Given the description of an element on the screen output the (x, y) to click on. 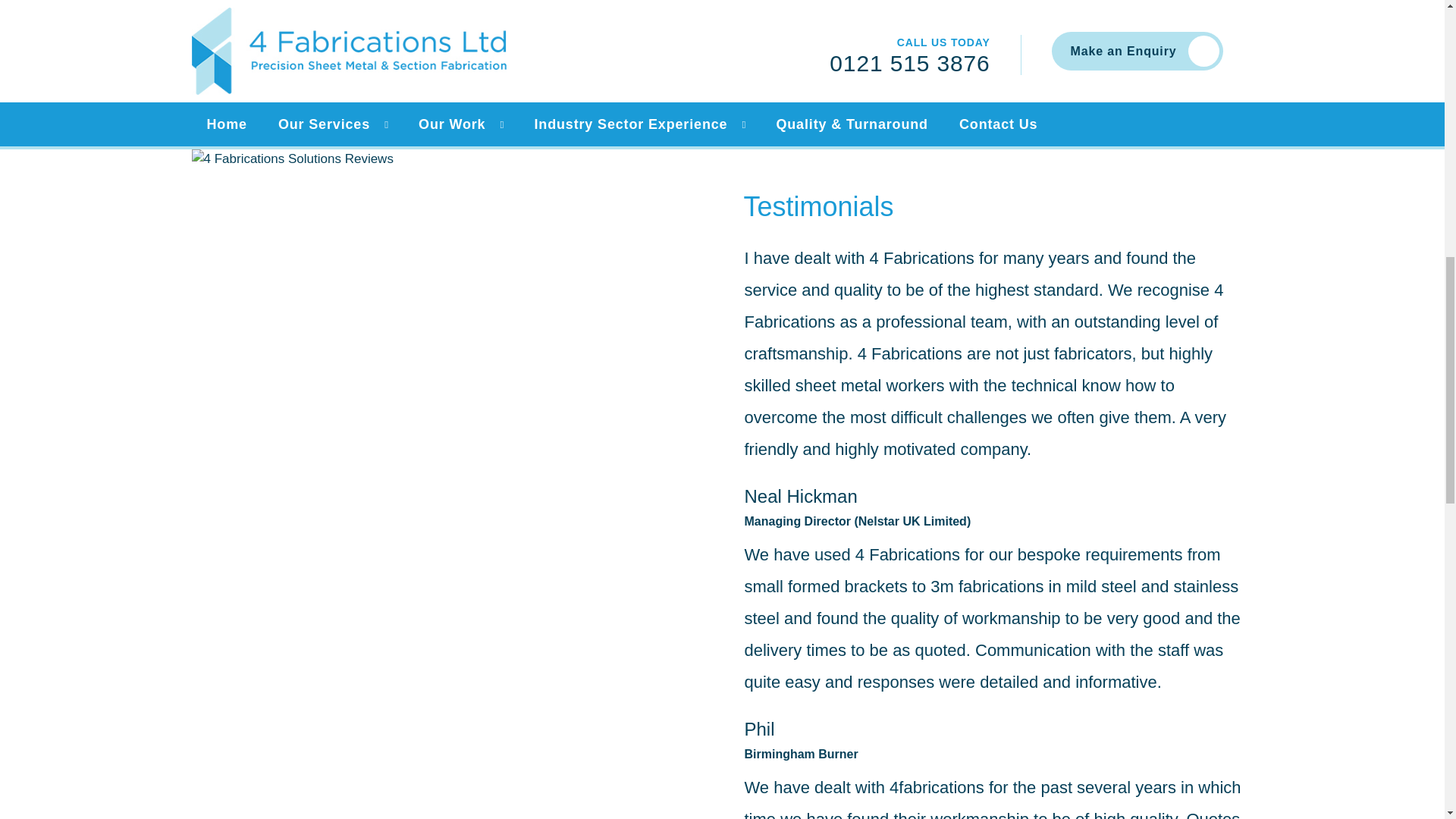
Birmingham (345, 50)
